Given the description of an element on the screen output the (x, y) to click on. 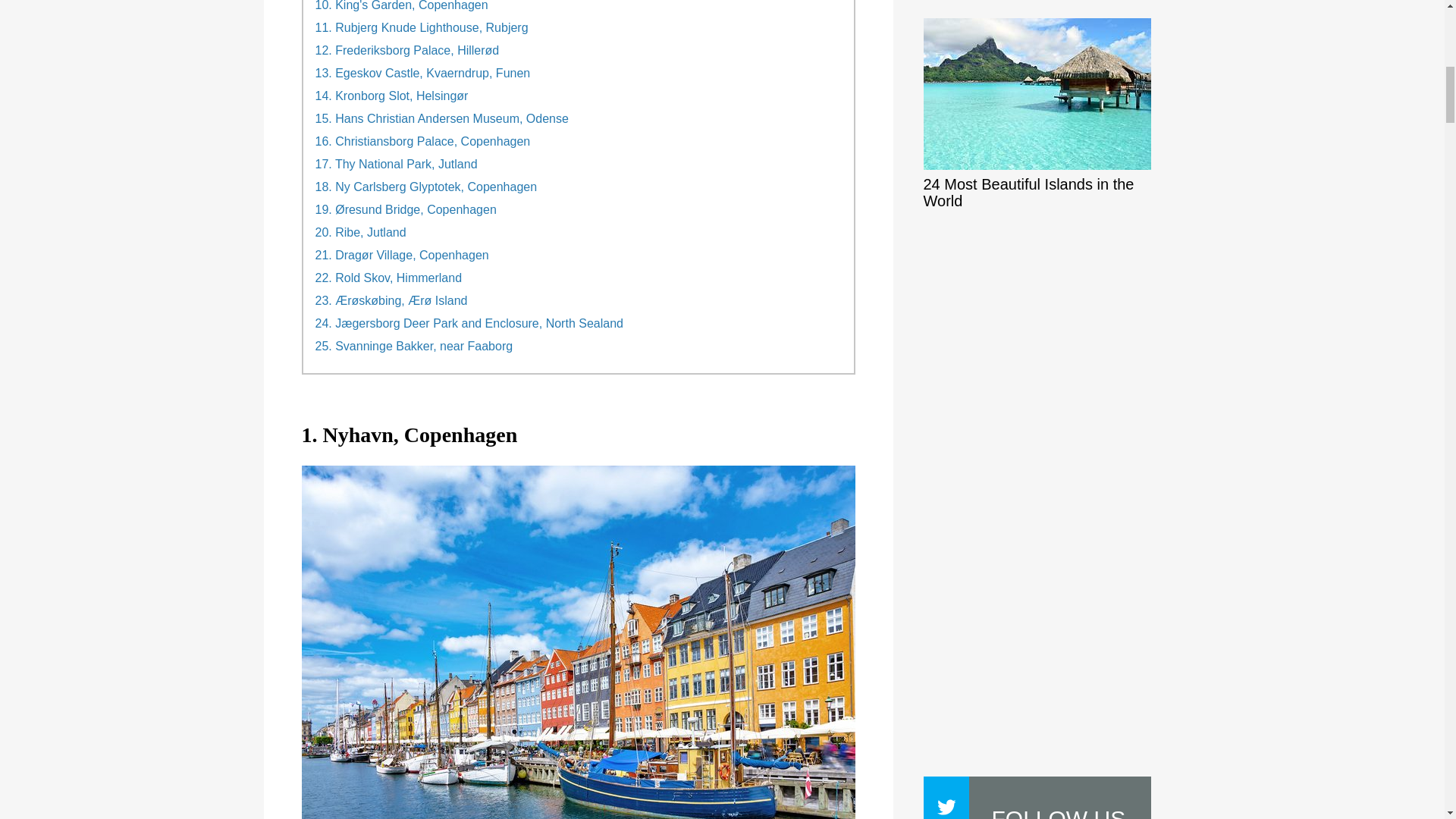
10. King's Garden, Copenhagen (401, 6)
16. Christiansborg Palace, Copenhagen (423, 141)
17. Thy National Park, Jutland (396, 164)
15. Hans Christian Andersen Museum, Odense (442, 119)
11. Rubjerg Knude Lighthouse, Rubjerg (421, 28)
13. Egeskov Castle, Kvaerndrup, Funen (423, 73)
18. Ny Carlsberg Glyptotek, Copenhagen (426, 187)
